Given the description of an element on the screen output the (x, y) to click on. 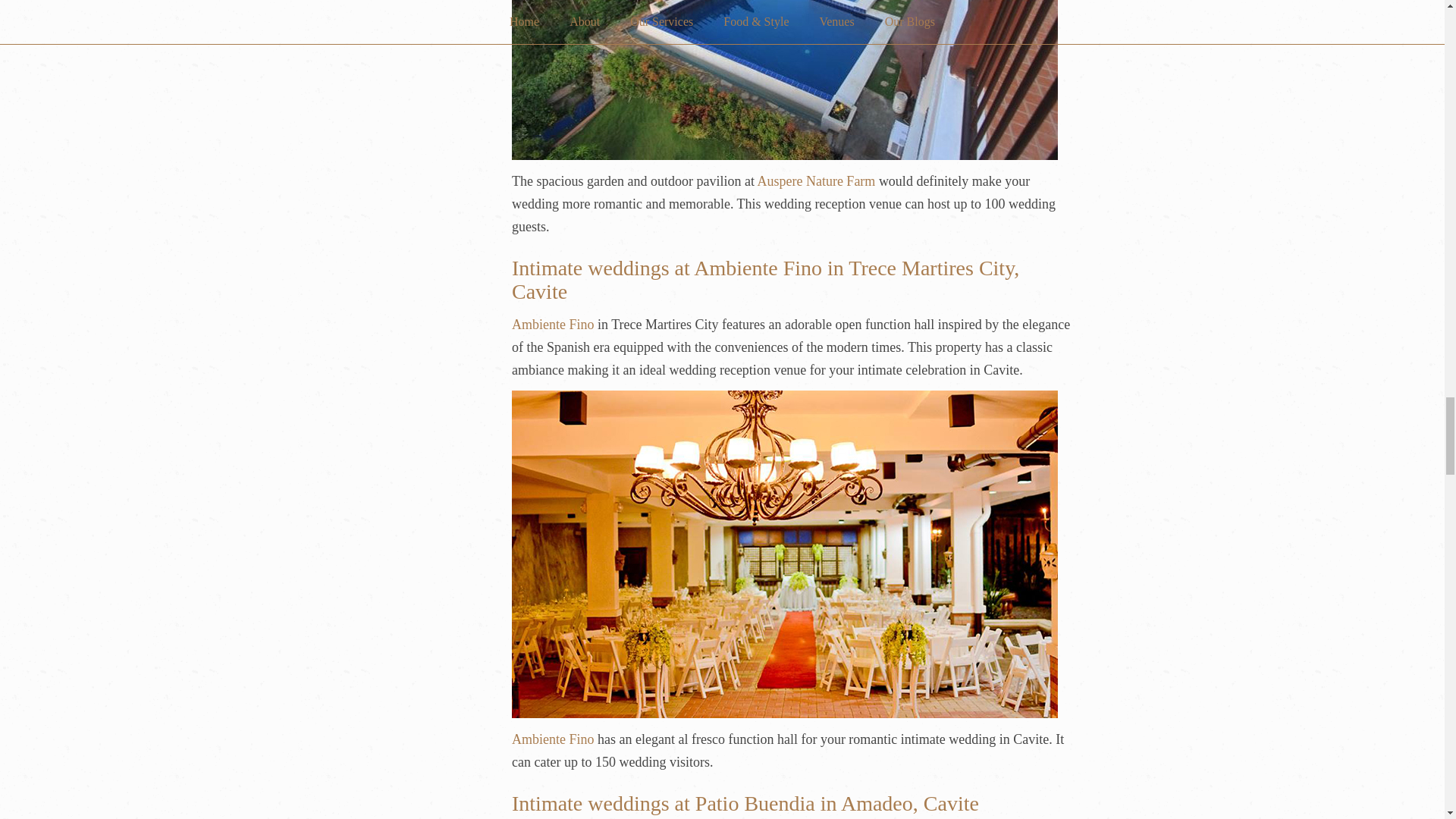
Auspere Nature Farm (816, 181)
